Given the description of an element on the screen output the (x, y) to click on. 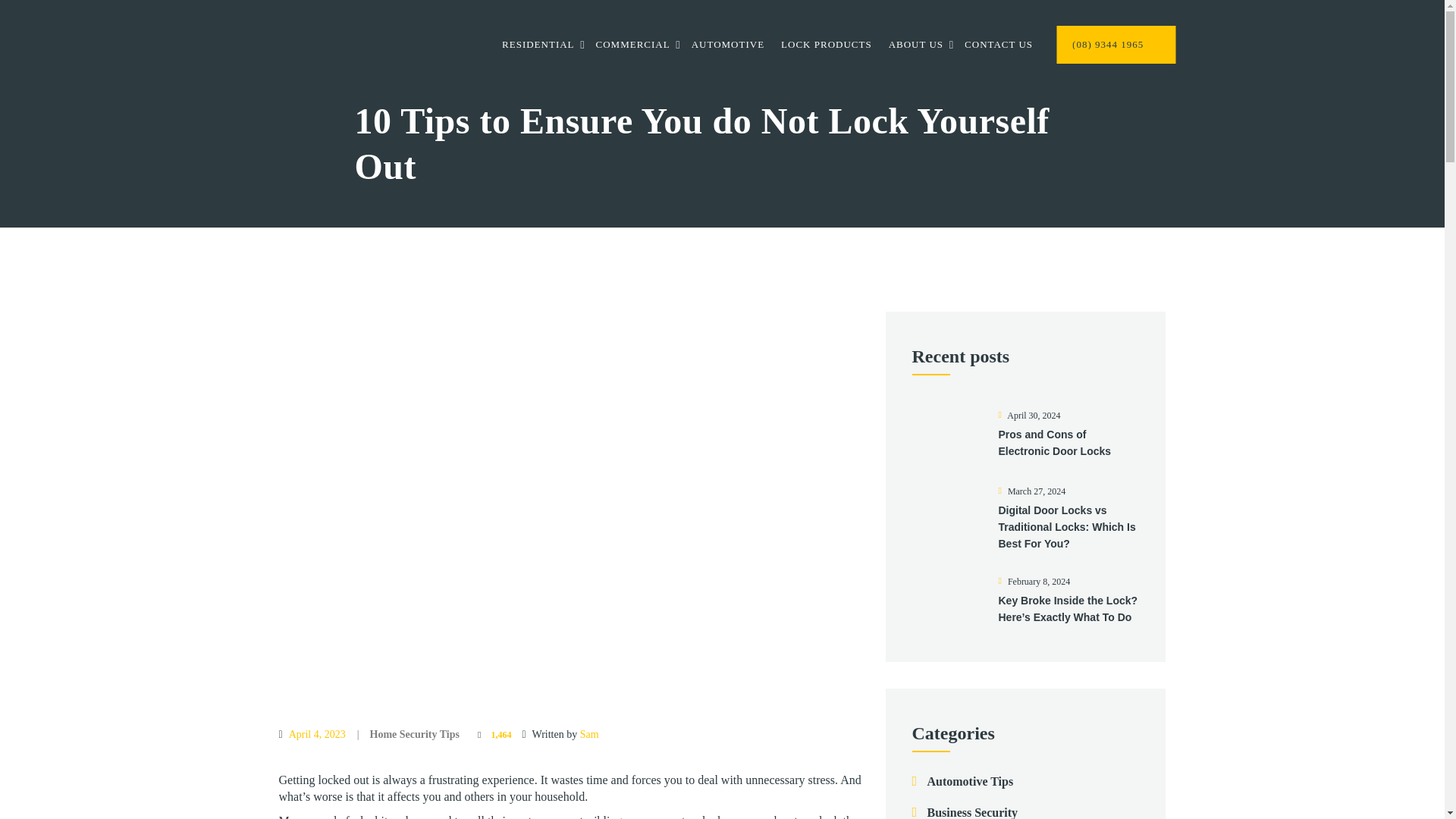
Sam (588, 734)
RESIDENTIAL (538, 47)
ABOUT US (916, 47)
LOCK PRODUCTS (826, 47)
CONTACT US (998, 47)
Posts by Sam (588, 734)
AUTOMOTIVE (727, 47)
COMMERCIAL (633, 47)
Home Security Tips (414, 734)
